Given the description of an element on the screen output the (x, y) to click on. 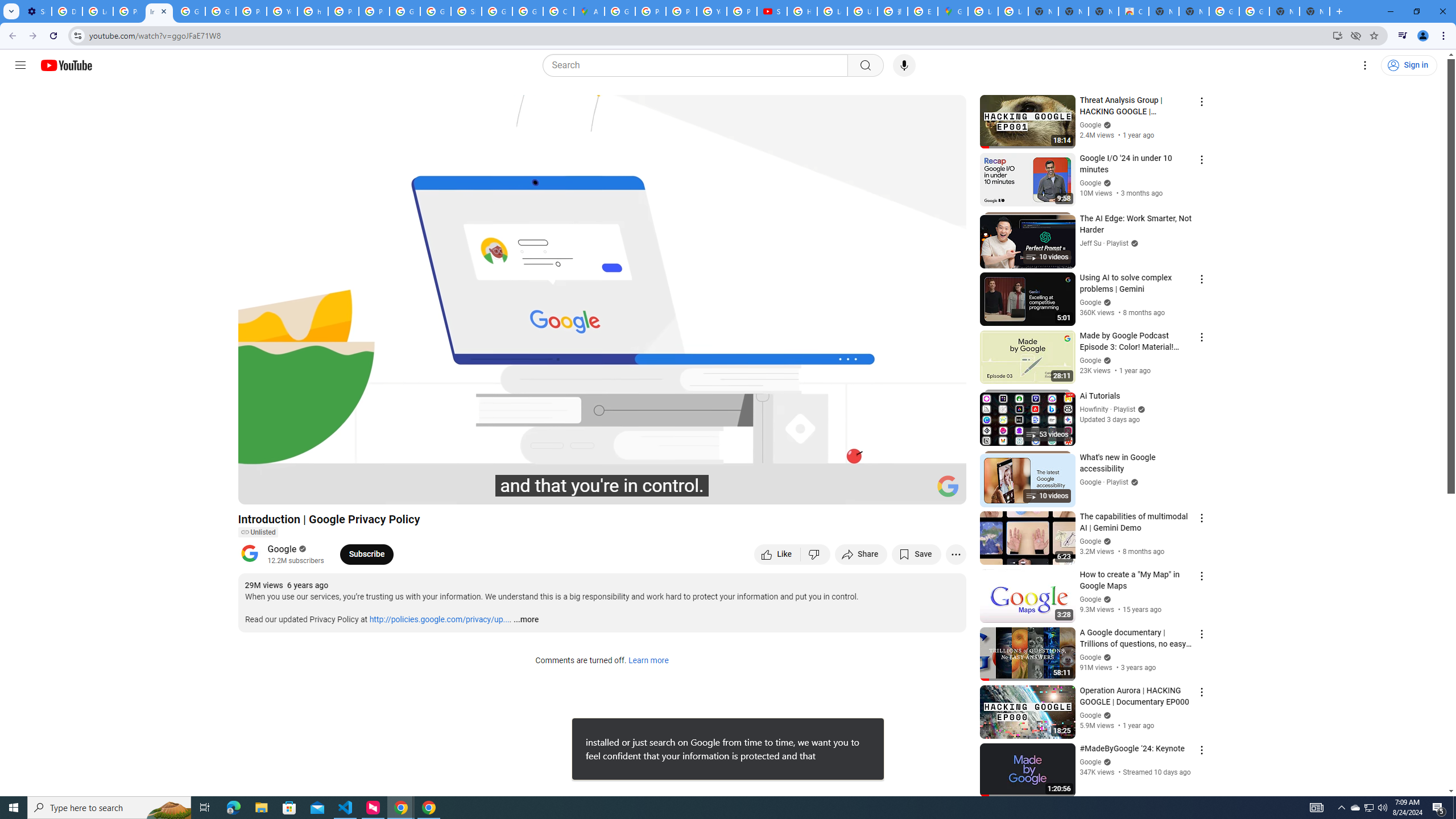
Channel watermark (947, 486)
Mute (m) (312, 490)
Privacy Help Center - Policies Help (343, 11)
Like (777, 554)
YouTube (711, 11)
Create your Google Account (558, 11)
